Given the description of an element on the screen output the (x, y) to click on. 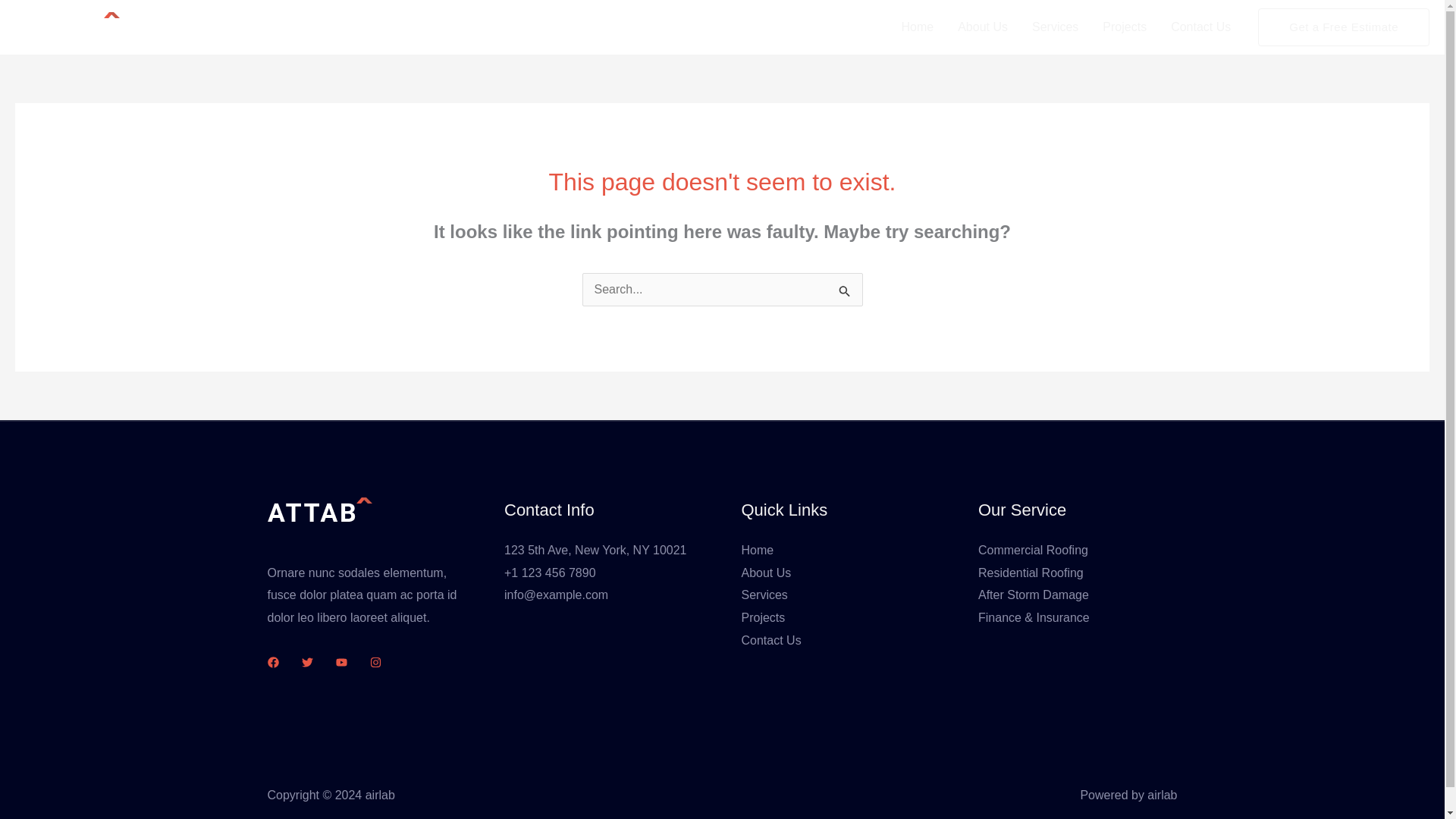
Projects (763, 617)
About Us (766, 572)
Projects (1124, 27)
Get a Free Estimate (1343, 26)
Services (1055, 27)
After Storm Damage (1033, 594)
Residential Roofing (1030, 572)
Home (757, 549)
Commercial Roofing (1032, 549)
Contact Us (771, 640)
Contact Us (1200, 27)
123 5th Ave, New York, NY 10021 (594, 549)
Services (764, 594)
Home (916, 27)
About Us (982, 27)
